Given the description of an element on the screen output the (x, y) to click on. 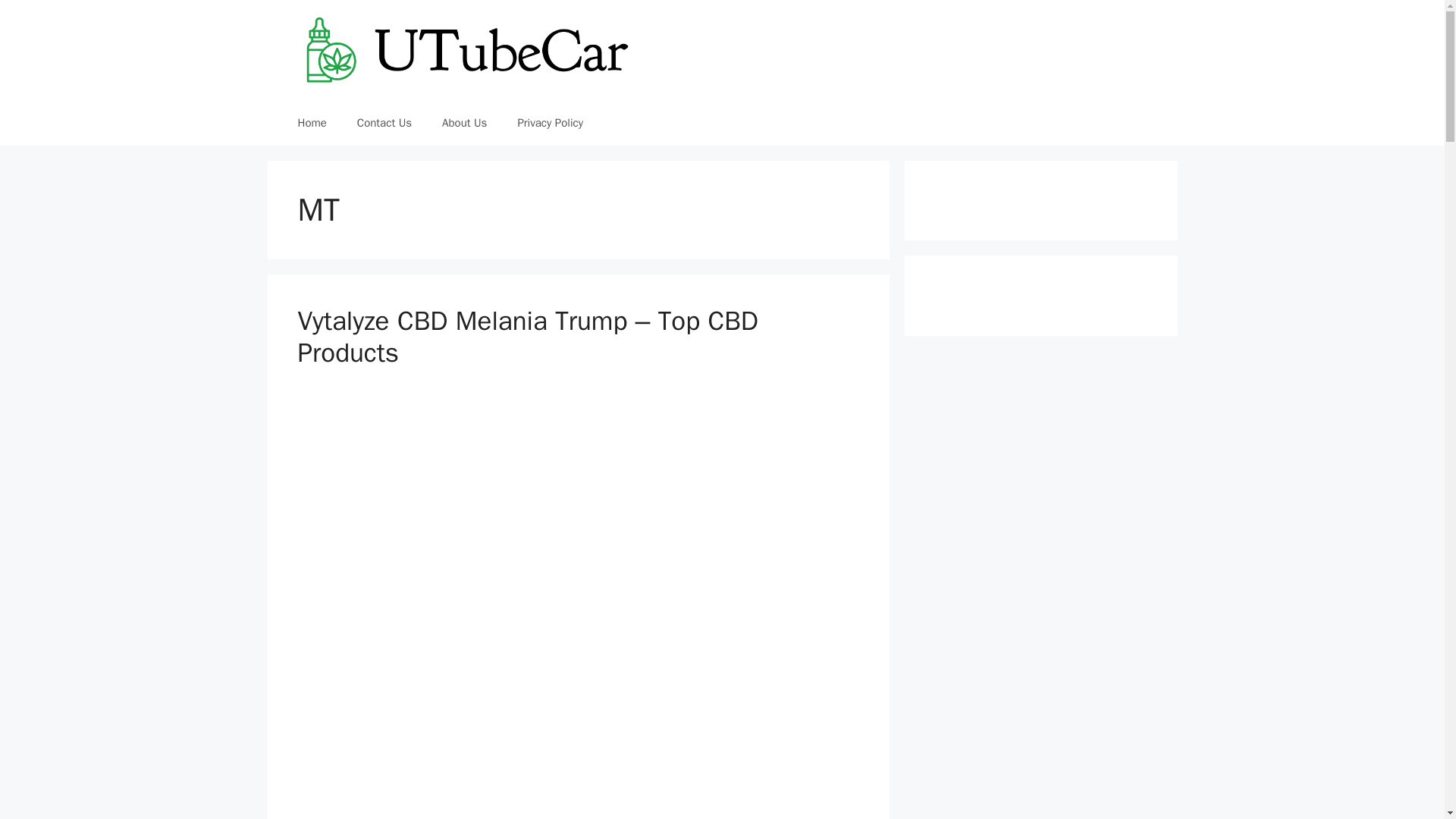
Contact Us (384, 122)
About Us (464, 122)
UTubeCar (463, 50)
Privacy Policy (550, 122)
UTubeCar (463, 48)
Home (311, 122)
